Given the description of an element on the screen output the (x, y) to click on. 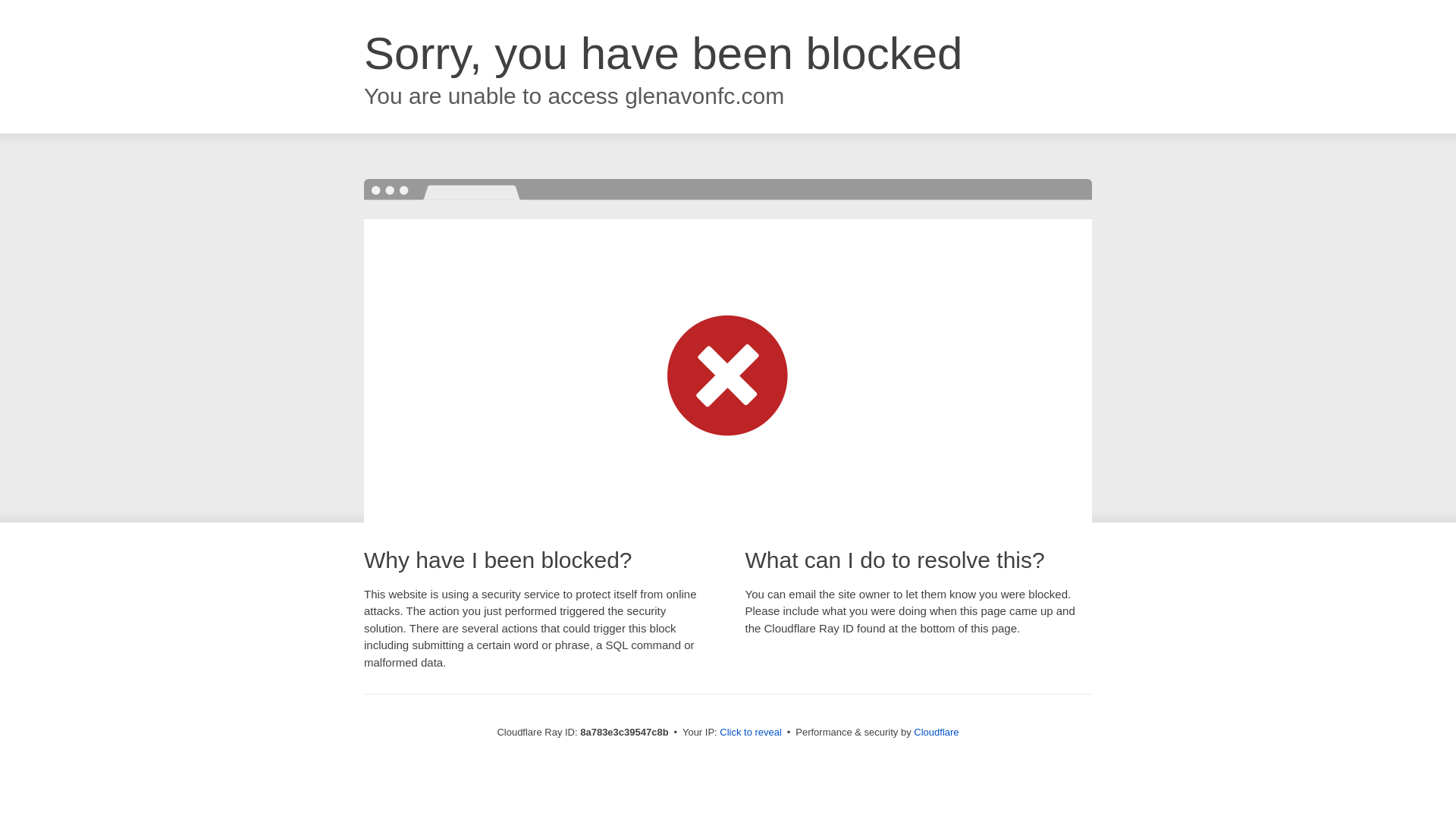
Cloudflare (936, 731)
Click to reveal (750, 732)
